Given the description of an element on the screen output the (x, y) to click on. 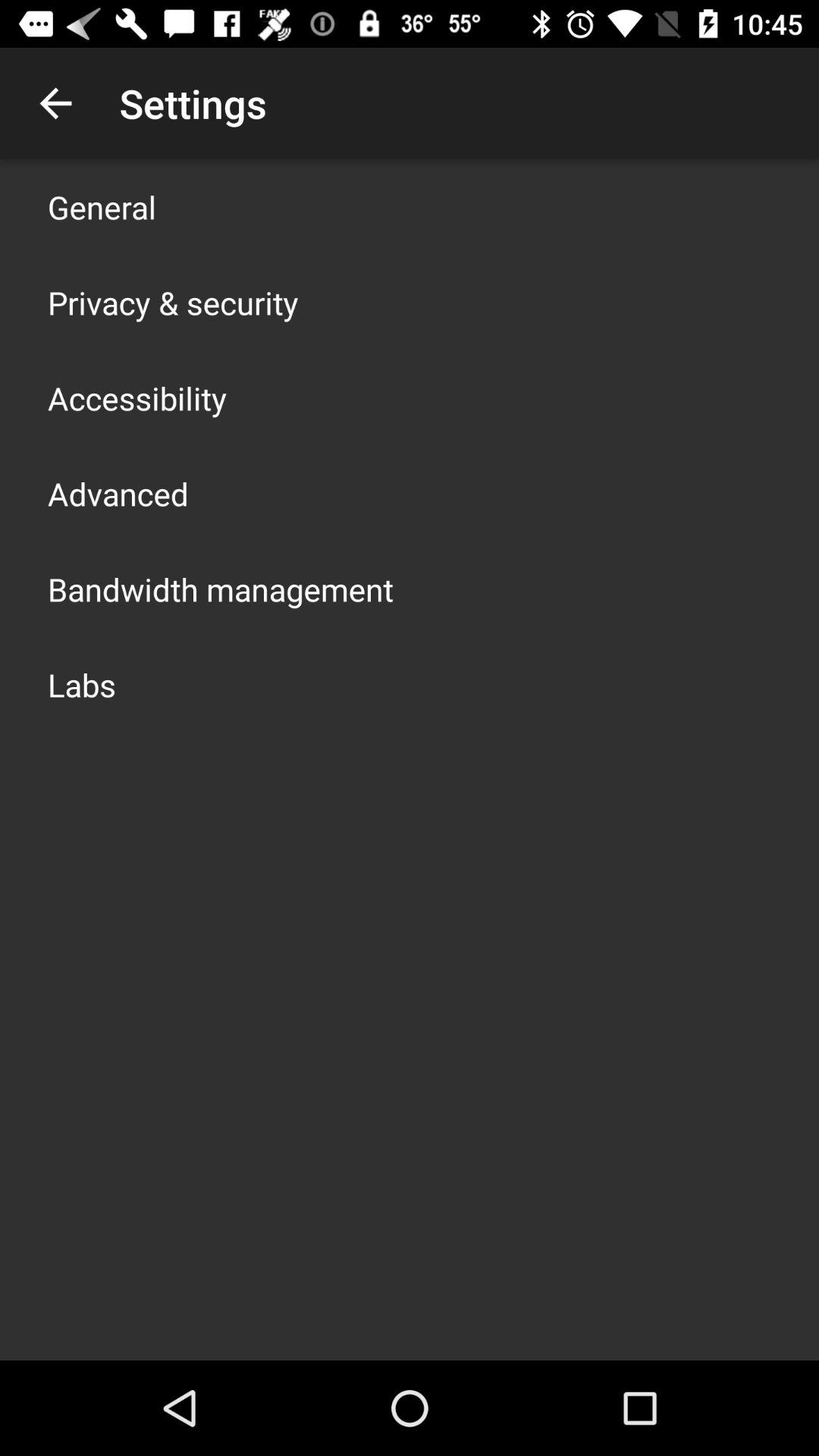
flip to privacy & security icon (172, 302)
